Given the description of an element on the screen output the (x, y) to click on. 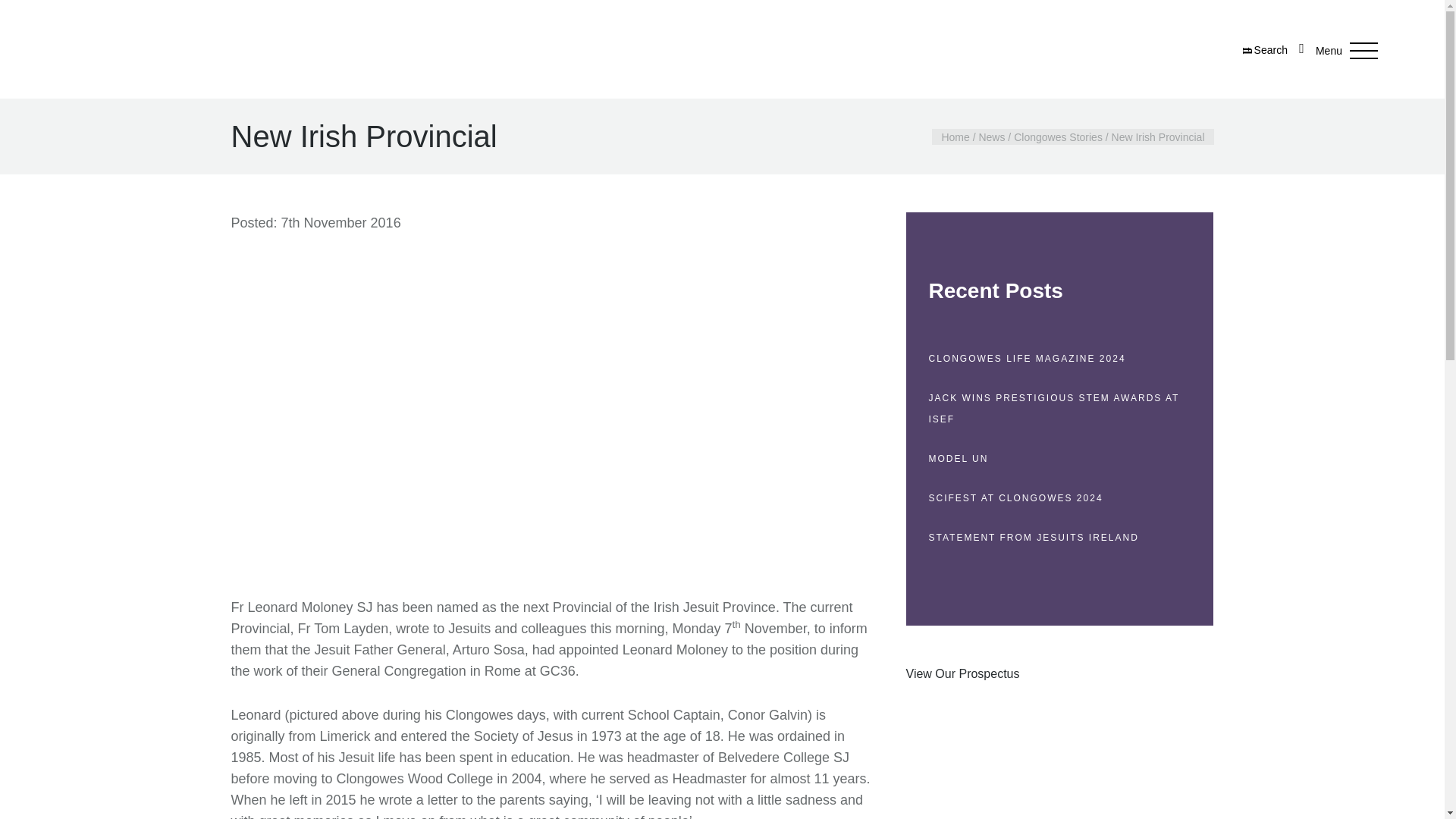
Go to Clongowes Wood College. (954, 137)
Go to News. (991, 137)
Go to the Clongowes Stories category archives. (1057, 137)
Search (1265, 50)
